Given the description of an element on the screen output the (x, y) to click on. 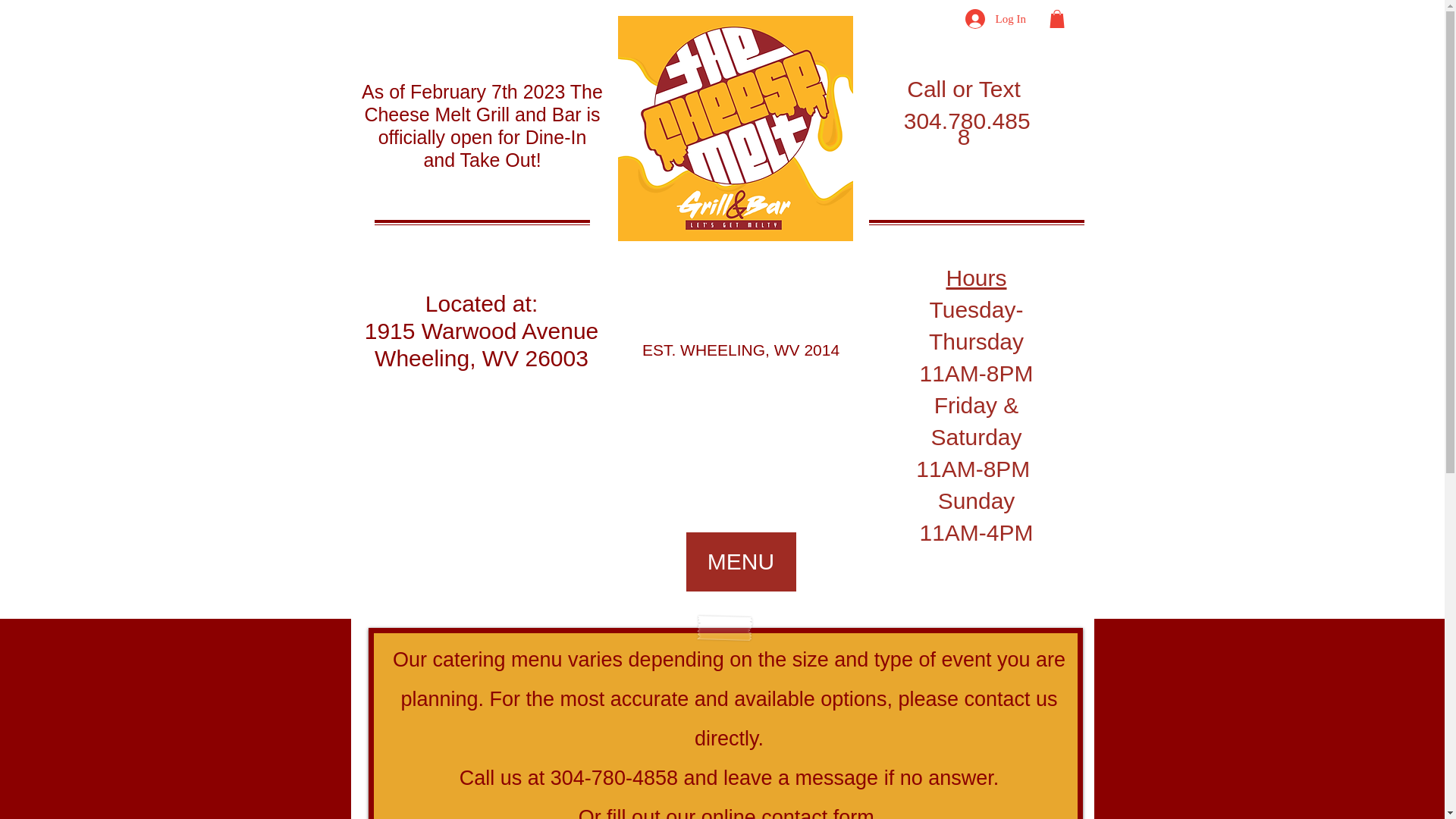
Log In (984, 18)
MENU (739, 561)
 304.780.4858 (962, 128)
EST. WHEELING, WV 2014 (741, 349)
contact form (818, 806)
